Given the description of an element on the screen output the (x, y) to click on. 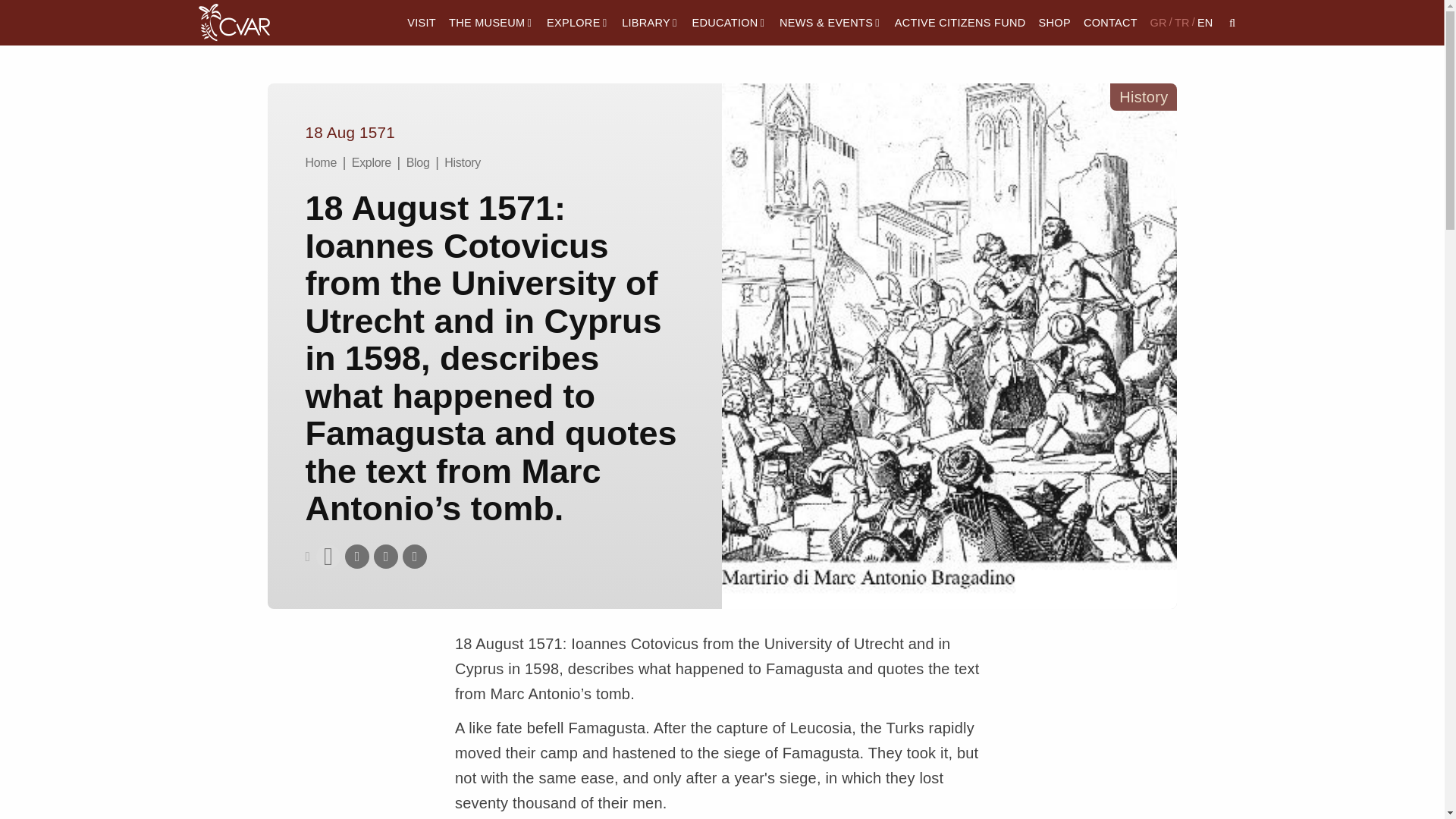
LIBRARY (650, 22)
THE MUSEUM (490, 22)
EDUCATION (729, 22)
VISIT (421, 22)
EXPLORE (577, 22)
